Given the description of an element on the screen output the (x, y) to click on. 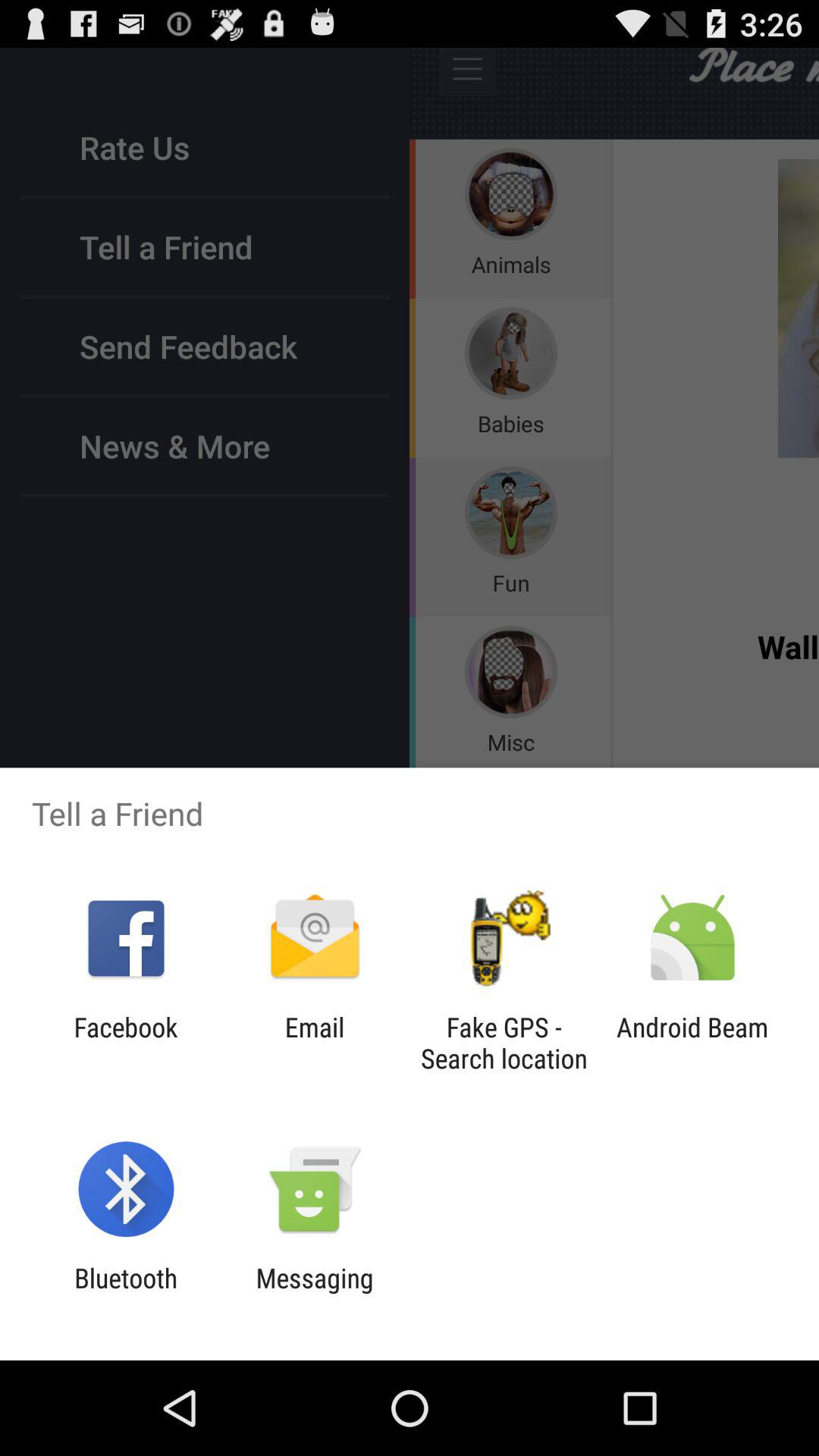
flip until messaging (314, 1293)
